Given the description of an element on the screen output the (x, y) to click on. 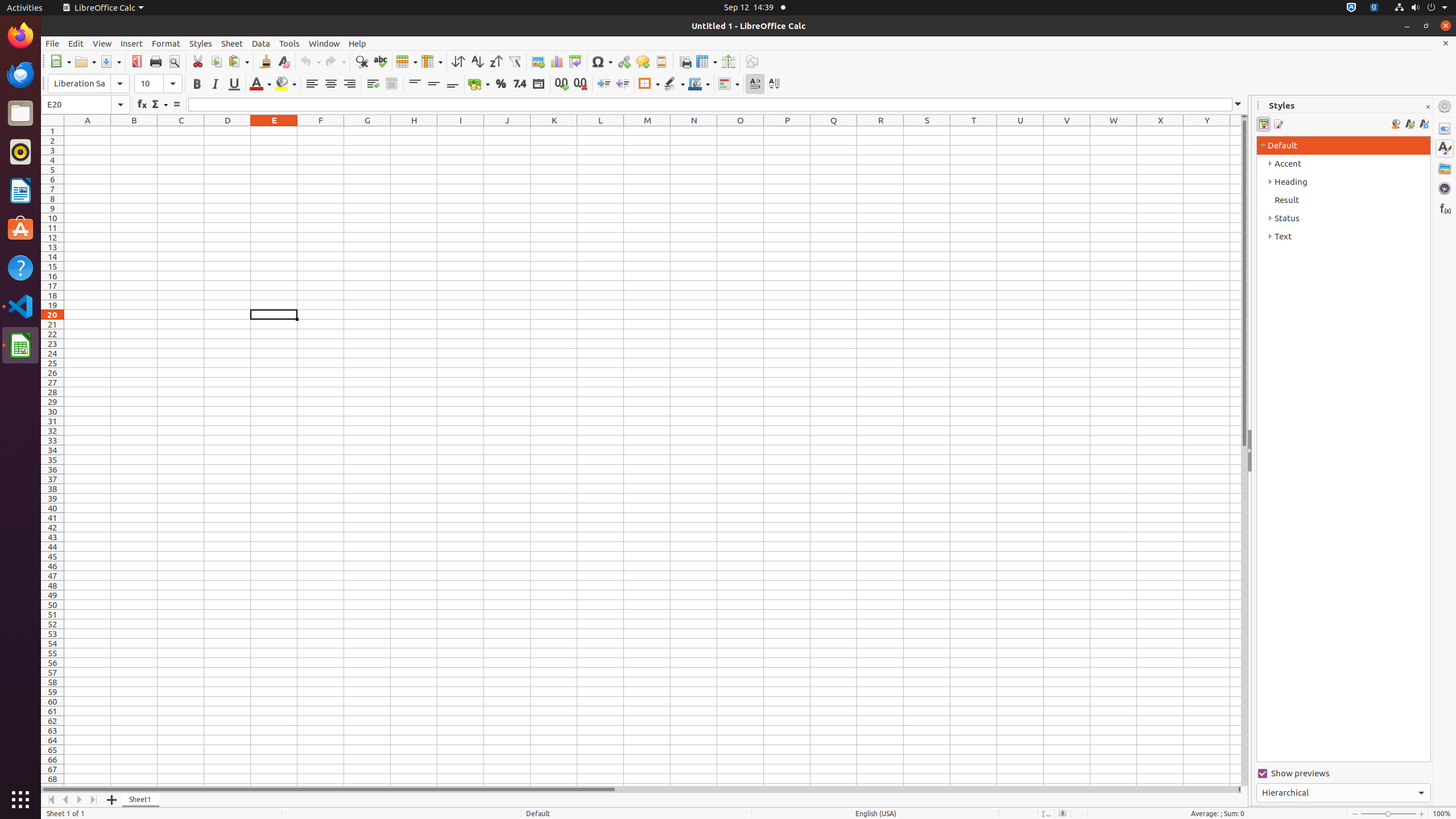
T1 Element type: table-cell (973, 130)
U1 Element type: table-cell (1020, 130)
Headers and Footers Element type: push-button (660, 61)
Row Element type: push-button (406, 61)
Sort Element type: push-button (457, 61)
